Given the description of an element on the screen output the (x, y) to click on. 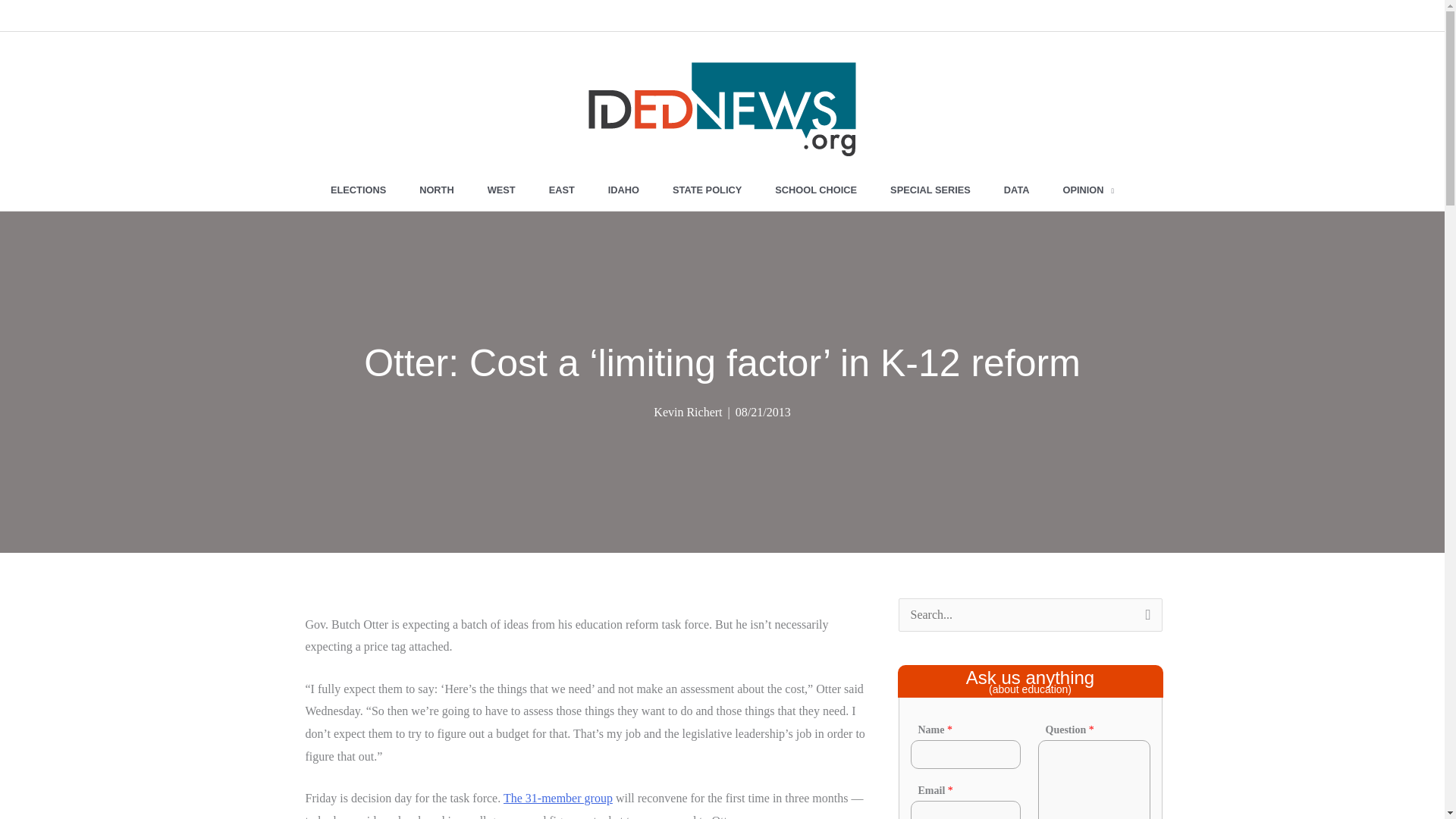
IDAHO (623, 189)
Kevin Richert (687, 411)
SPECIAL SERIES (930, 189)
STATE POLICY (707, 189)
ELECTIONS (358, 189)
WEST (501, 189)
EAST (561, 189)
The 31-member group (557, 797)
DATA (1016, 189)
OPINION (1088, 189)
